Given the description of an element on the screen output the (x, y) to click on. 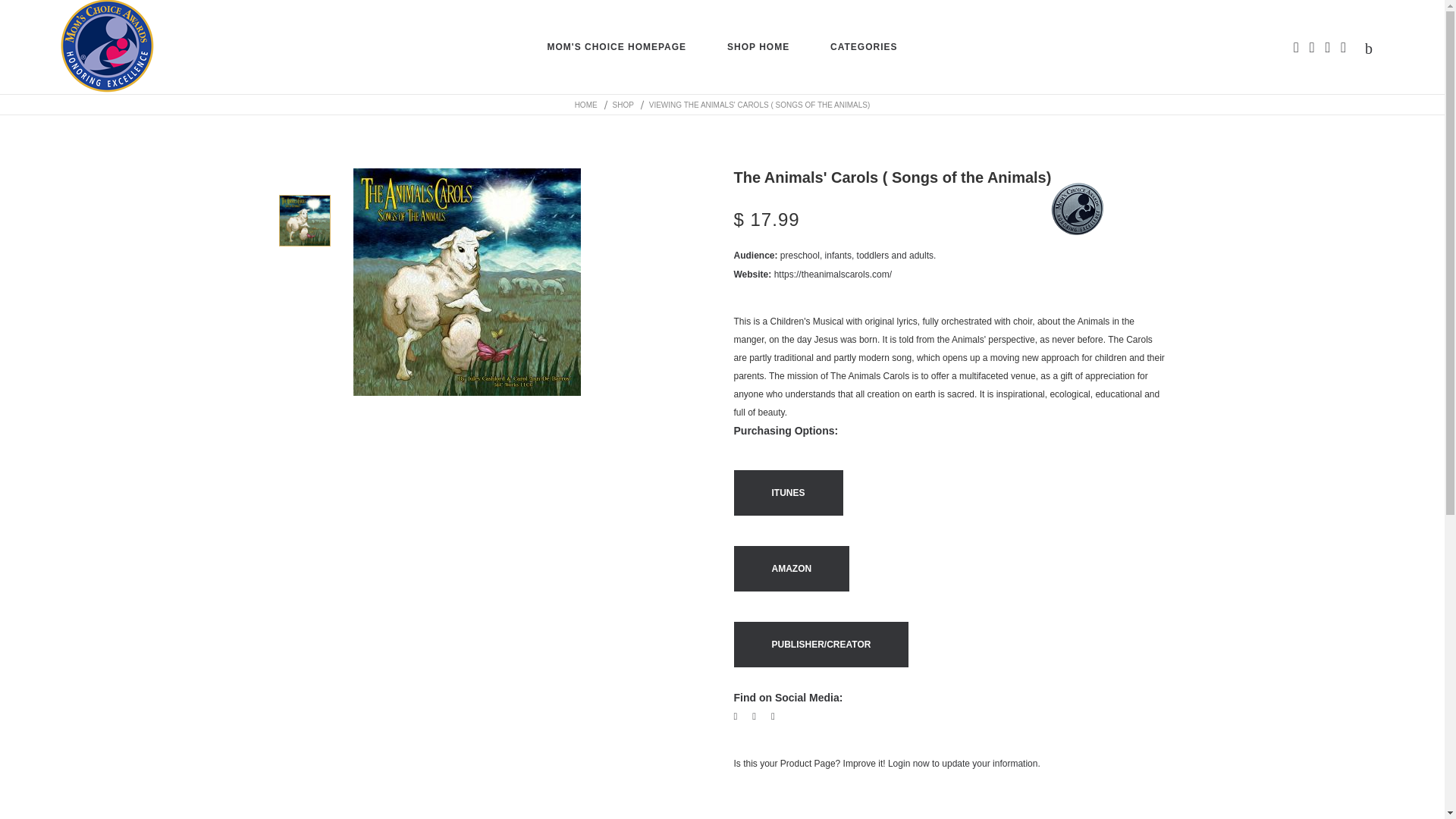
MCA Silver Award (1076, 208)
MOM'S CHOICE HOMEPAGE (615, 46)
CATEGORIES (862, 46)
SHOP HOME (757, 46)
